Given the description of an element on the screen output the (x, y) to click on. 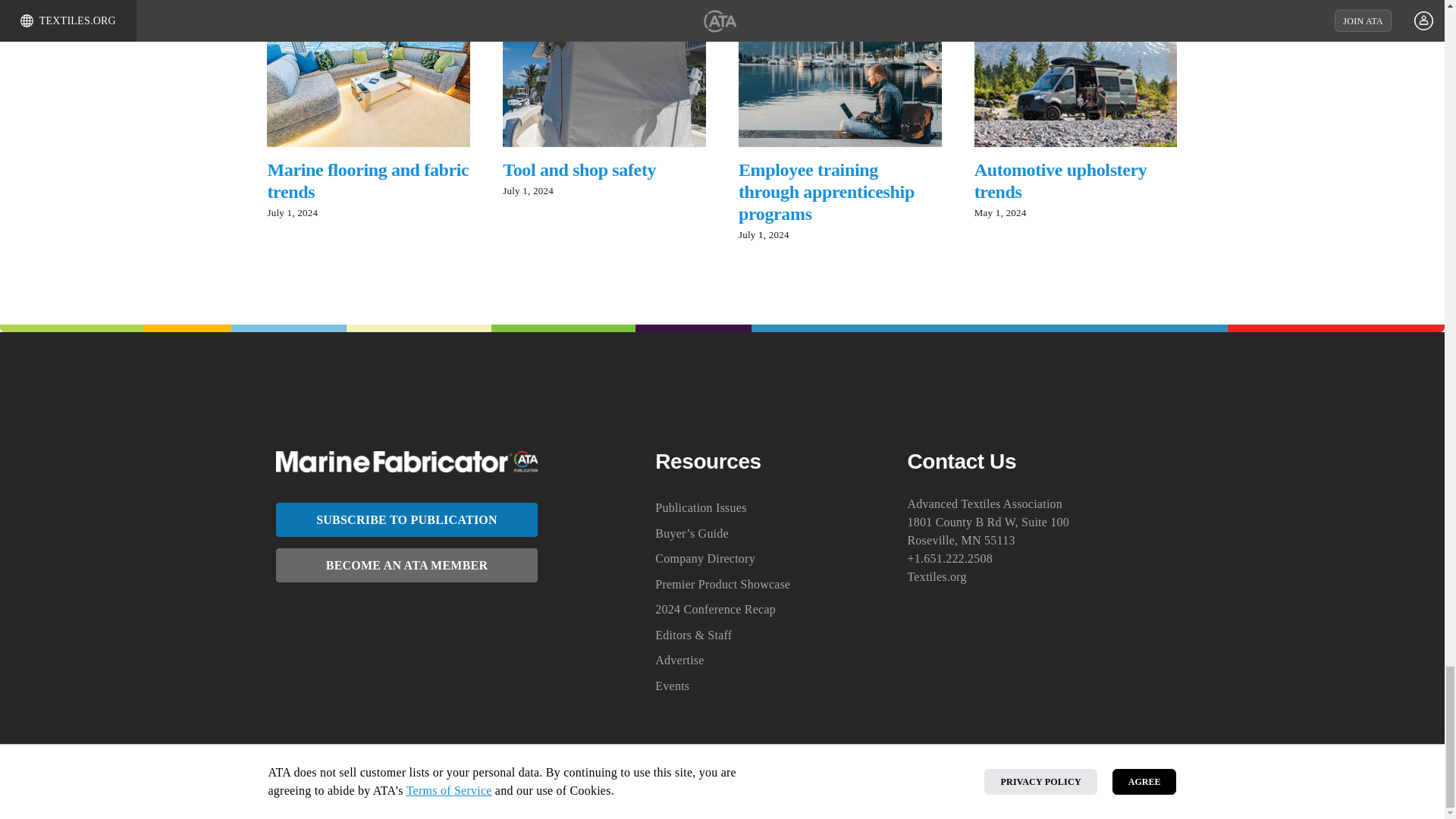
Tool and shop safety (579, 169)
Marine flooring and fabric trends (367, 180)
Employee training through apprenticeship programs (826, 191)
Automotive upholstery trends (1060, 180)
